Given the description of an element on the screen output the (x, y) to click on. 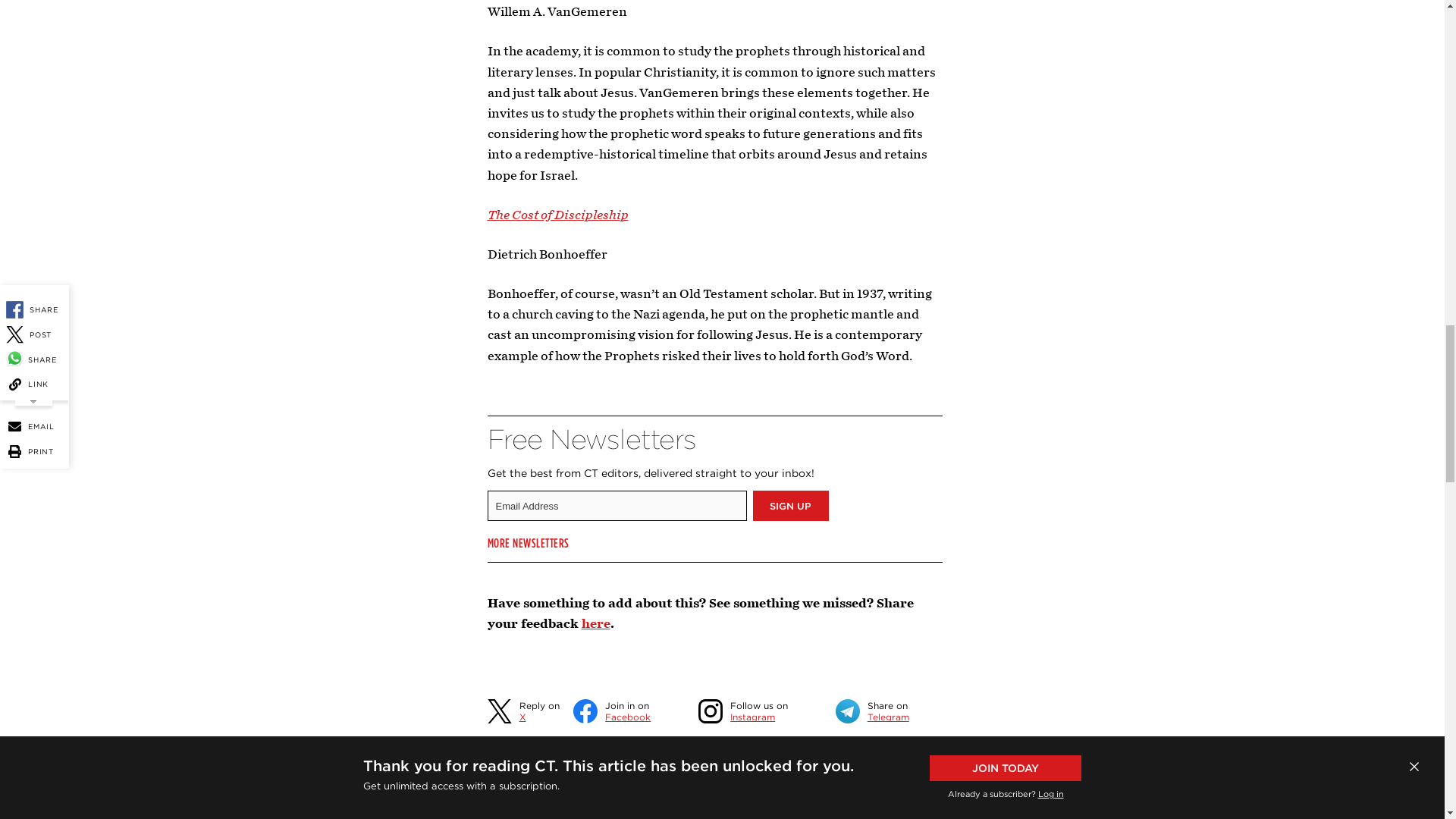
Sign Up (790, 505)
Email Address (615, 505)
